Given the description of an element on the screen output the (x, y) to click on. 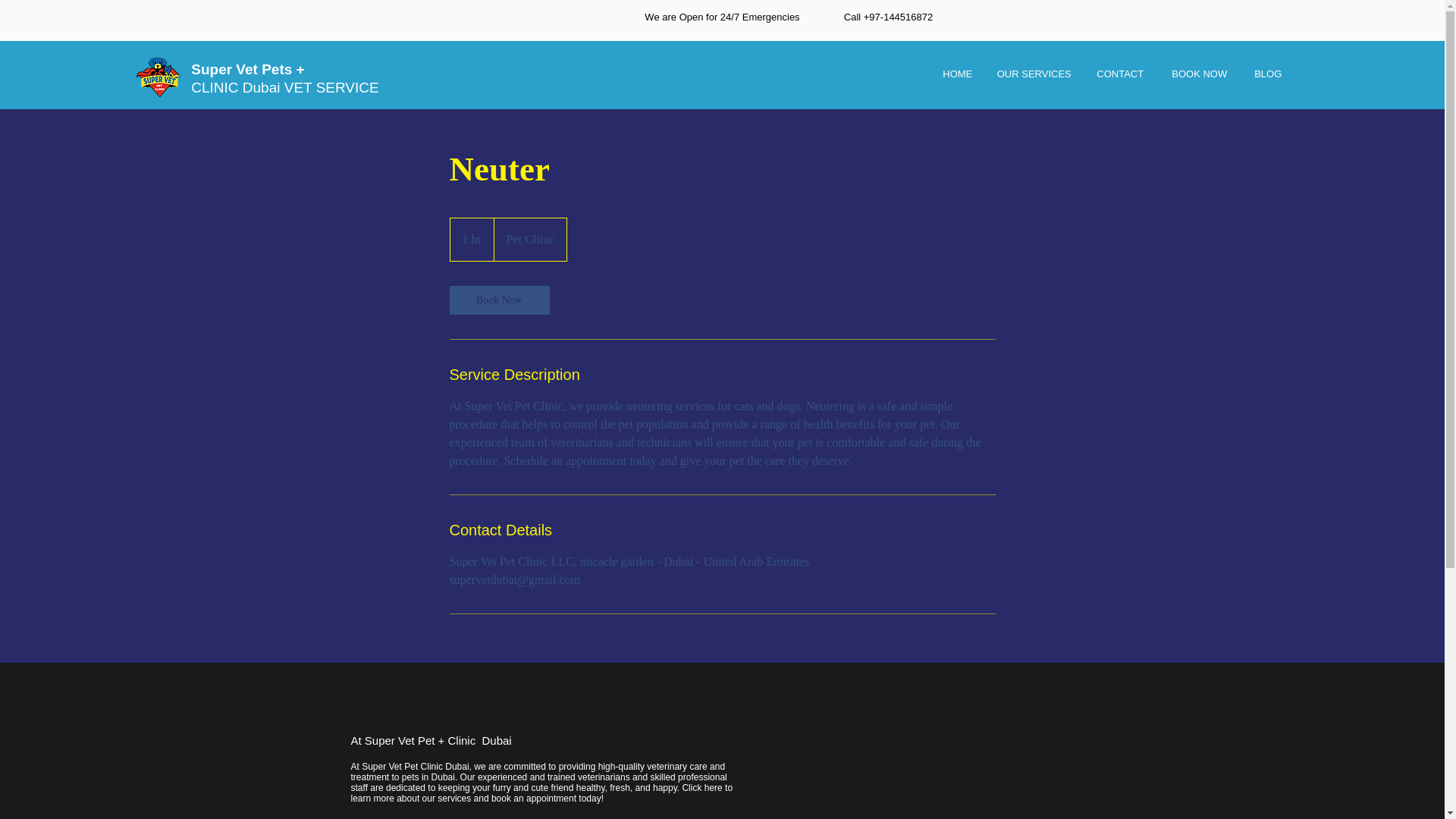
BOOK NOW (1199, 73)
OUR SERVICES (1034, 73)
HOME (957, 73)
Book Now (498, 299)
CLINIC Dubai VET SERVICE (284, 87)
BLOG (1267, 73)
CONTACT (1120, 73)
